Given the description of an element on the screen output the (x, y) to click on. 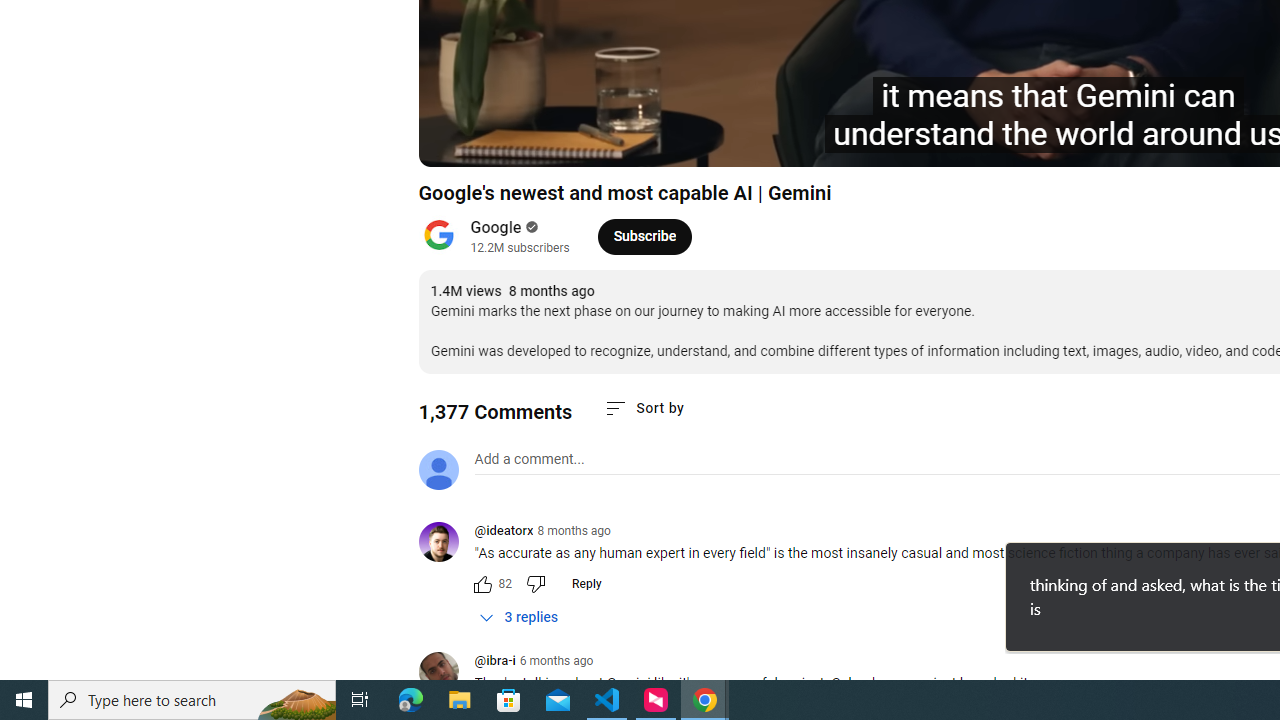
@ideatorx (446, 543)
6 months ago (555, 661)
@ideatorx (503, 532)
Default profile photo (438, 470)
8 months ago (573, 531)
Next (SHIFT+n) (500, 142)
